Given the description of an element on the screen output the (x, y) to click on. 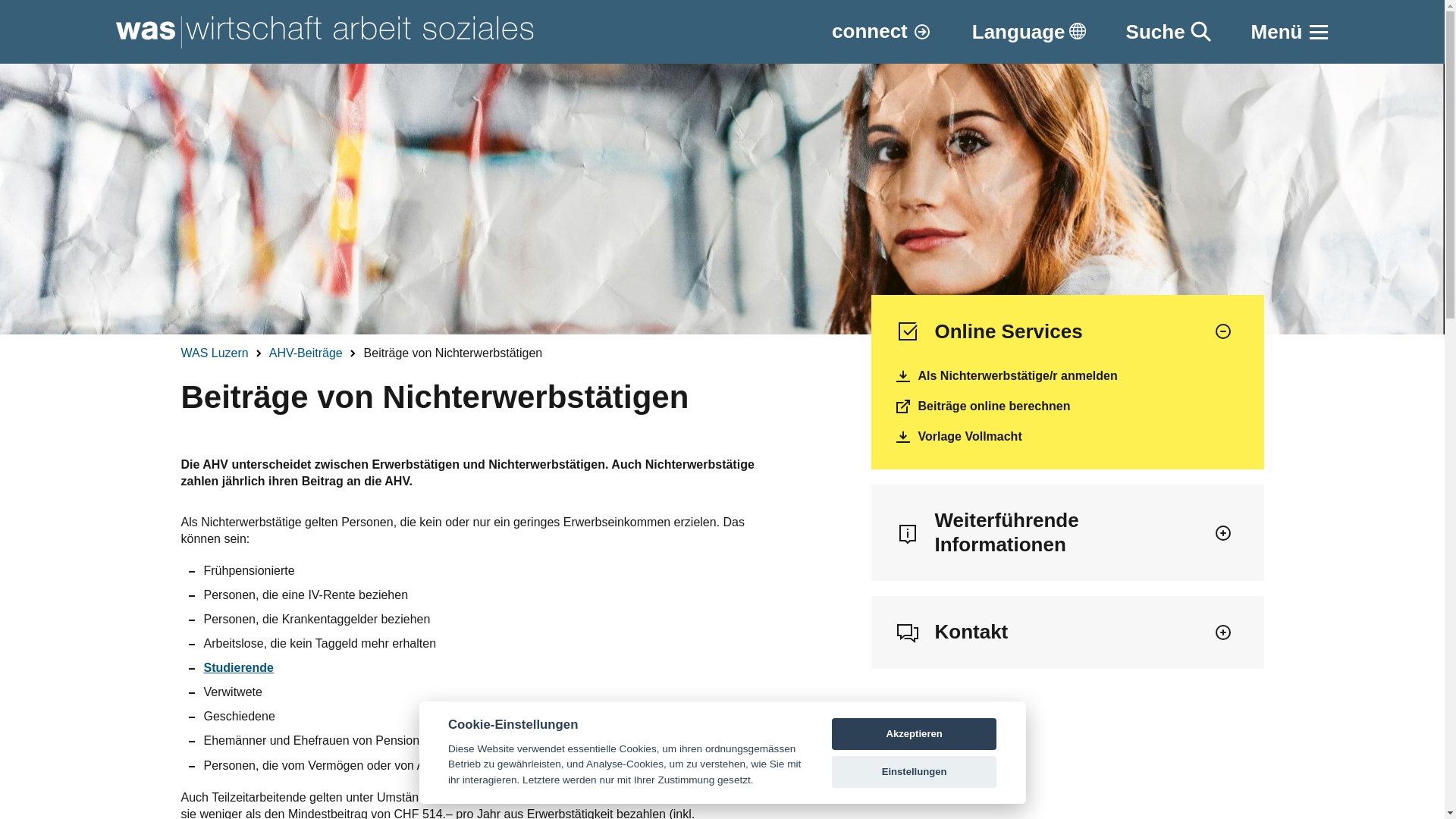
connect Element type: text (880, 30)
Direkt zum Inhalt Element type: text (0, 0)
Studierende Element type: text (238, 667)
Einstellungen Element type: text (913, 771)
Vorlage Vollmacht Element type: text (1066, 436)
Suche Element type: text (1168, 31)
WAS Luzern Element type: text (213, 352)
Akzeptieren Element type: text (913, 733)
